Given the description of an element on the screen output the (x, y) to click on. 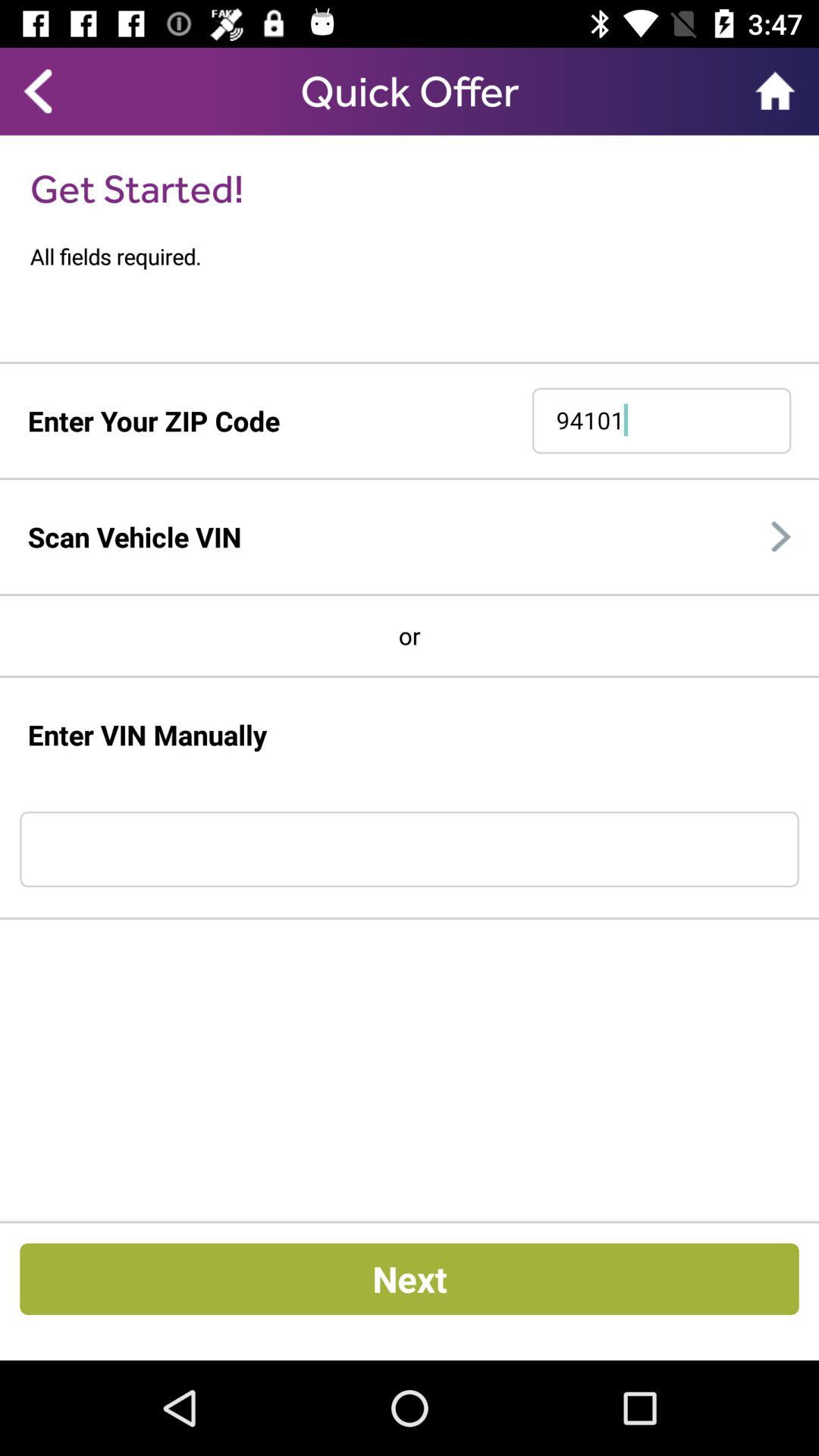
enter vin manually (409, 849)
